Given the description of an element on the screen output the (x, y) to click on. 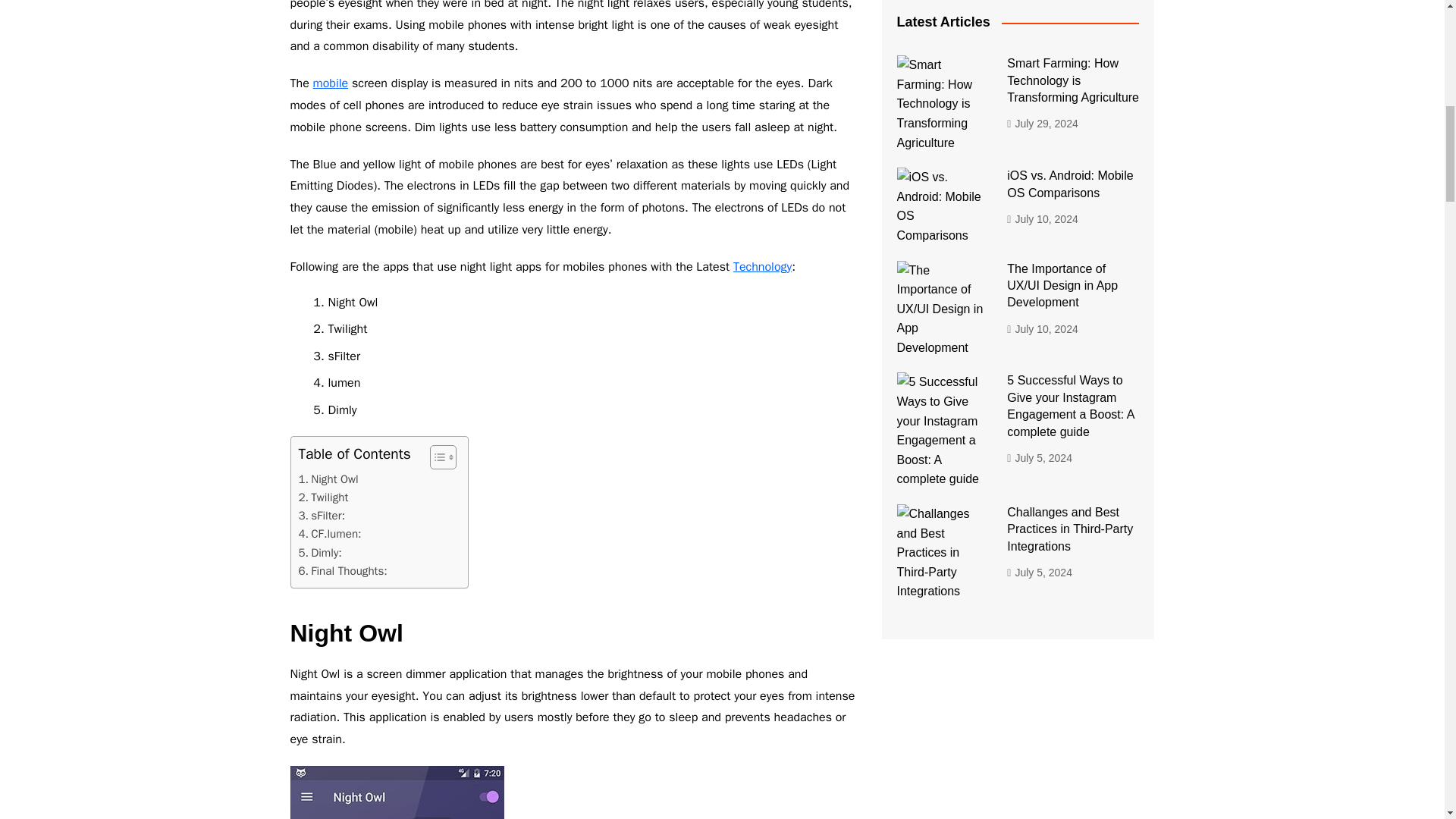
sFilter: (322, 515)
Final Thoughts: (342, 570)
Night Owl (328, 479)
Dimly: (320, 552)
CF.lumen: (329, 533)
Twilight (323, 497)
